Given the description of an element on the screen output the (x, y) to click on. 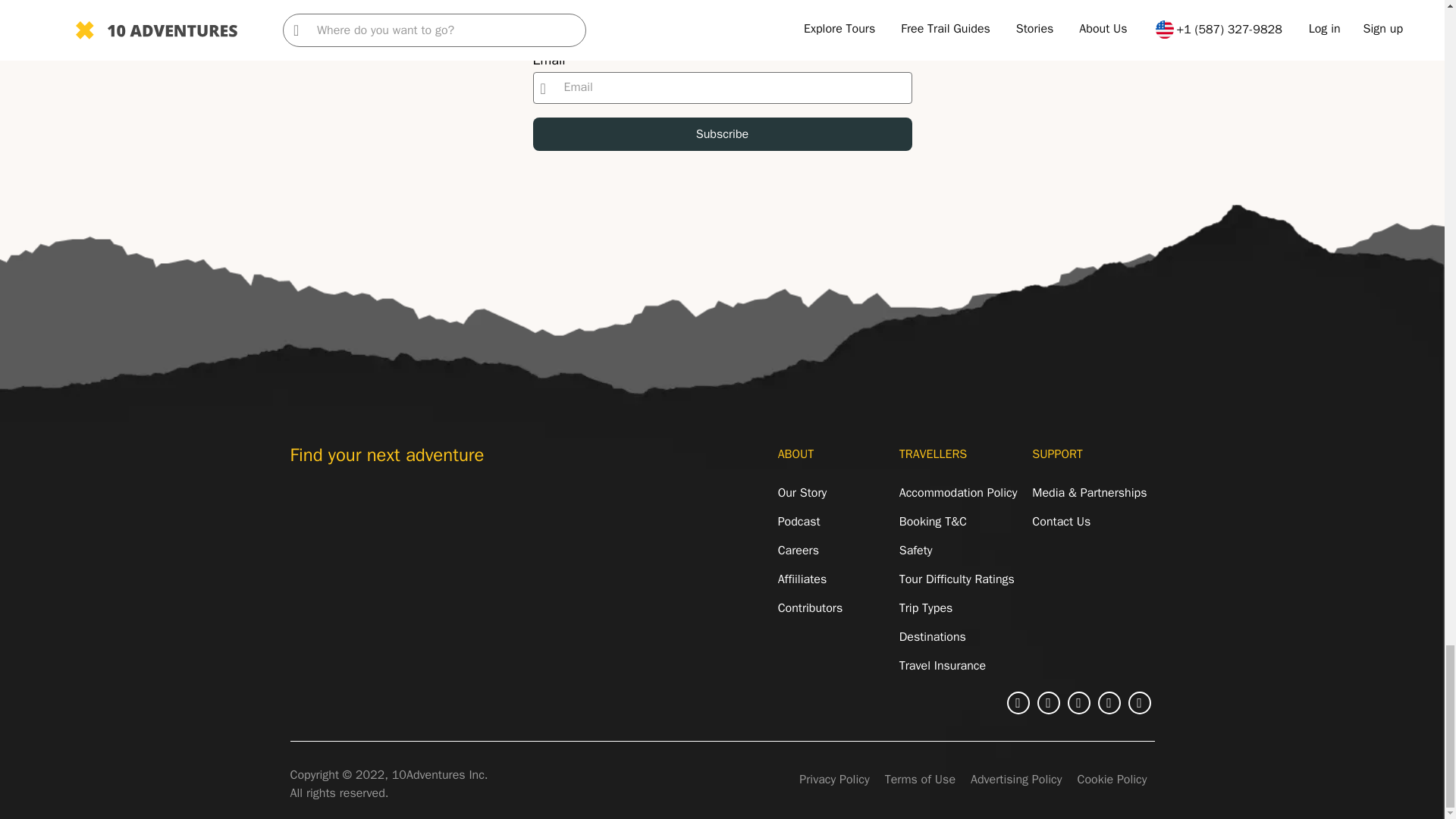
Adventure Travel Trade Association (338, 509)
